Given the description of an element on the screen output the (x, y) to click on. 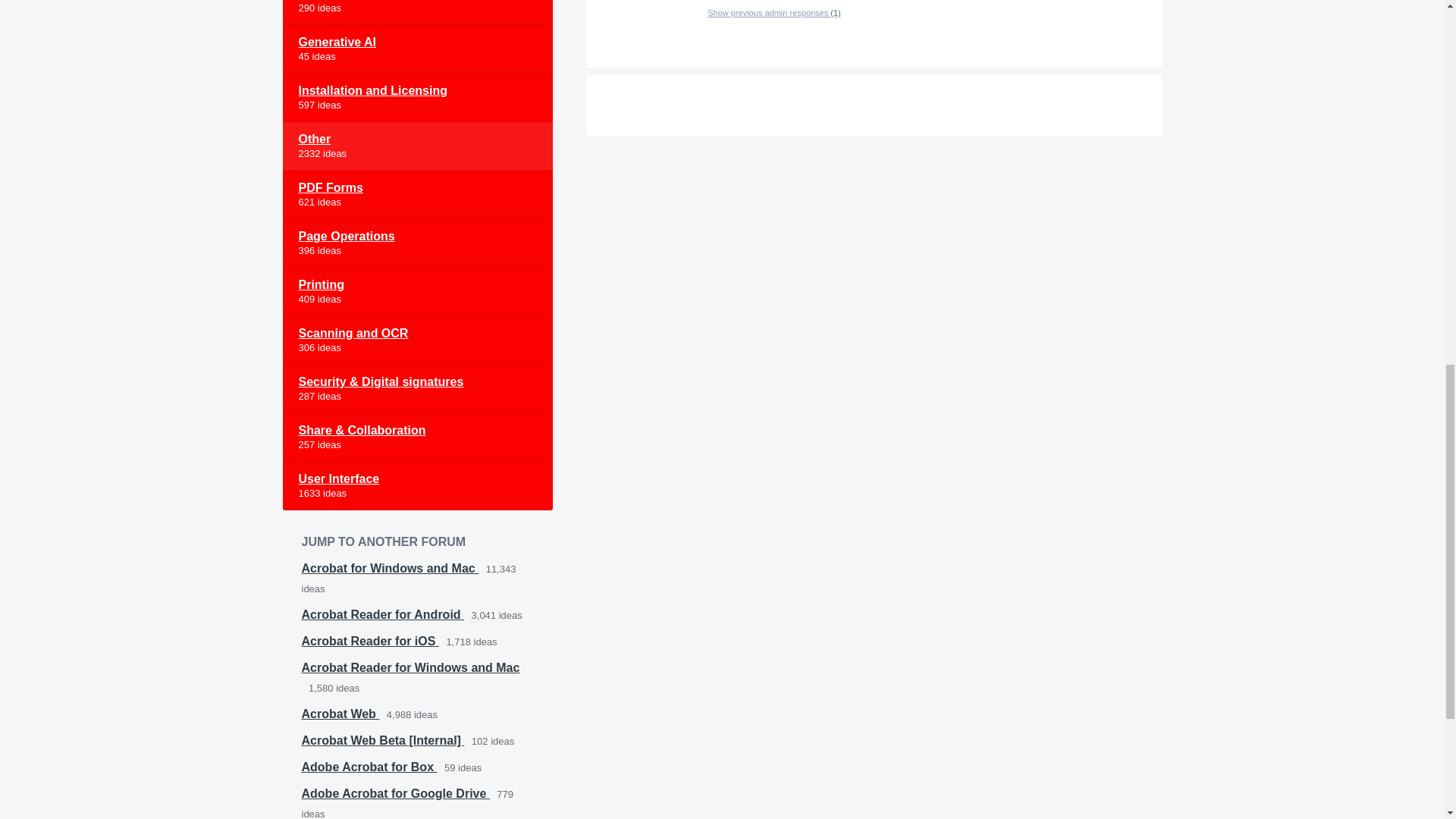
Acrobat Reader for Windows and Mac (410, 667)
Acrobat Reader for iOS (370, 640)
Acrobat Reader for Android (382, 614)
View all ideas in category Generative AI (417, 49)
View all ideas in category Printing (417, 291)
Adobe Acrobat for Box (369, 766)
Acrobat for Windows and Mac (390, 567)
View all ideas in category Page Operations (417, 243)
Scanning and OCR (417, 340)
Other (417, 146)
